Given the description of an element on the screen output the (x, y) to click on. 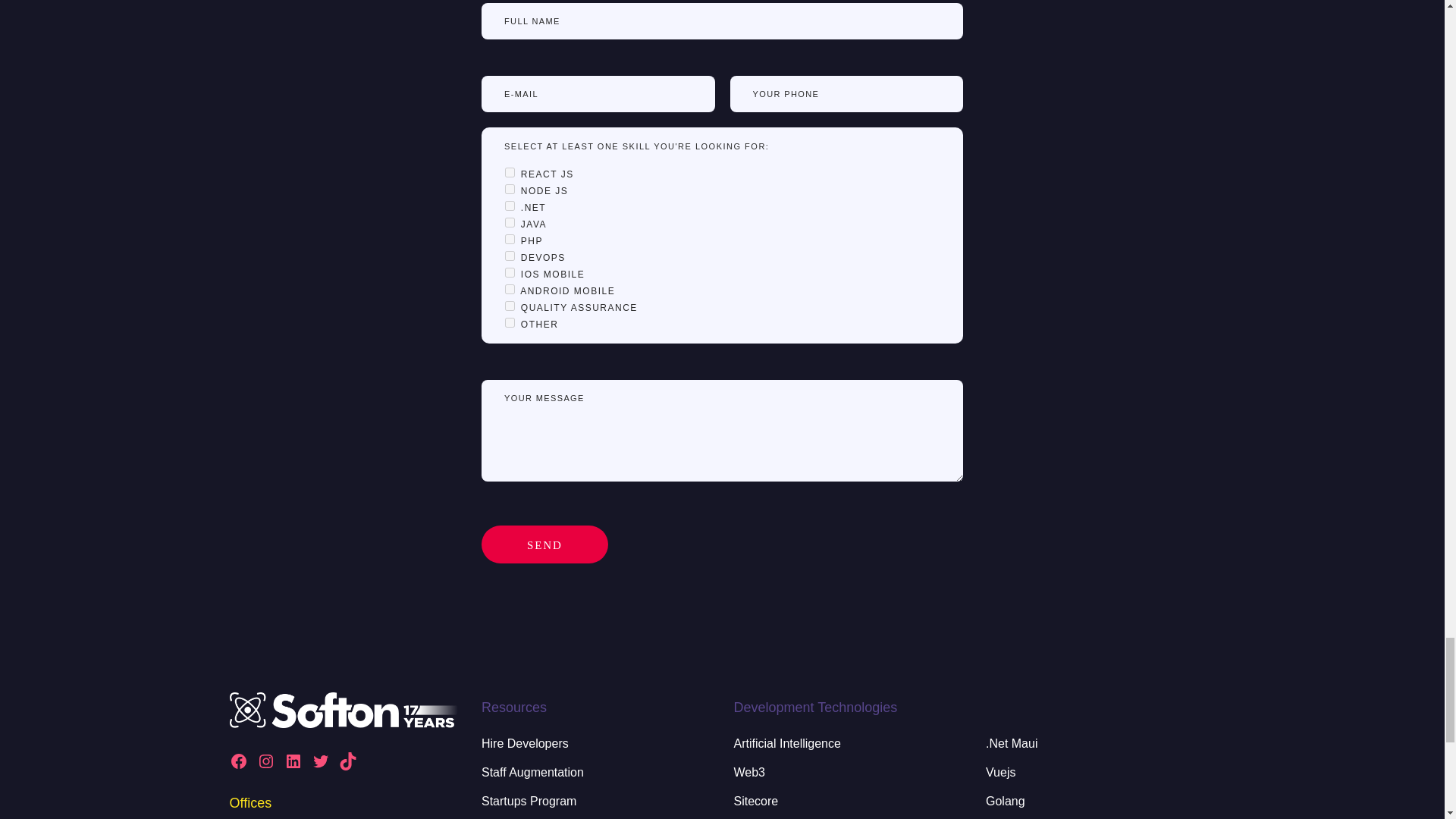
SEND (544, 544)
SEND (544, 544)
.Net (510, 205)
Quality Assurance (510, 306)
Other (510, 322)
Android Mobile (510, 289)
PHP (510, 239)
Facebook (237, 761)
React JS (510, 172)
Node JS (510, 189)
